Given the description of an element on the screen output the (x, y) to click on. 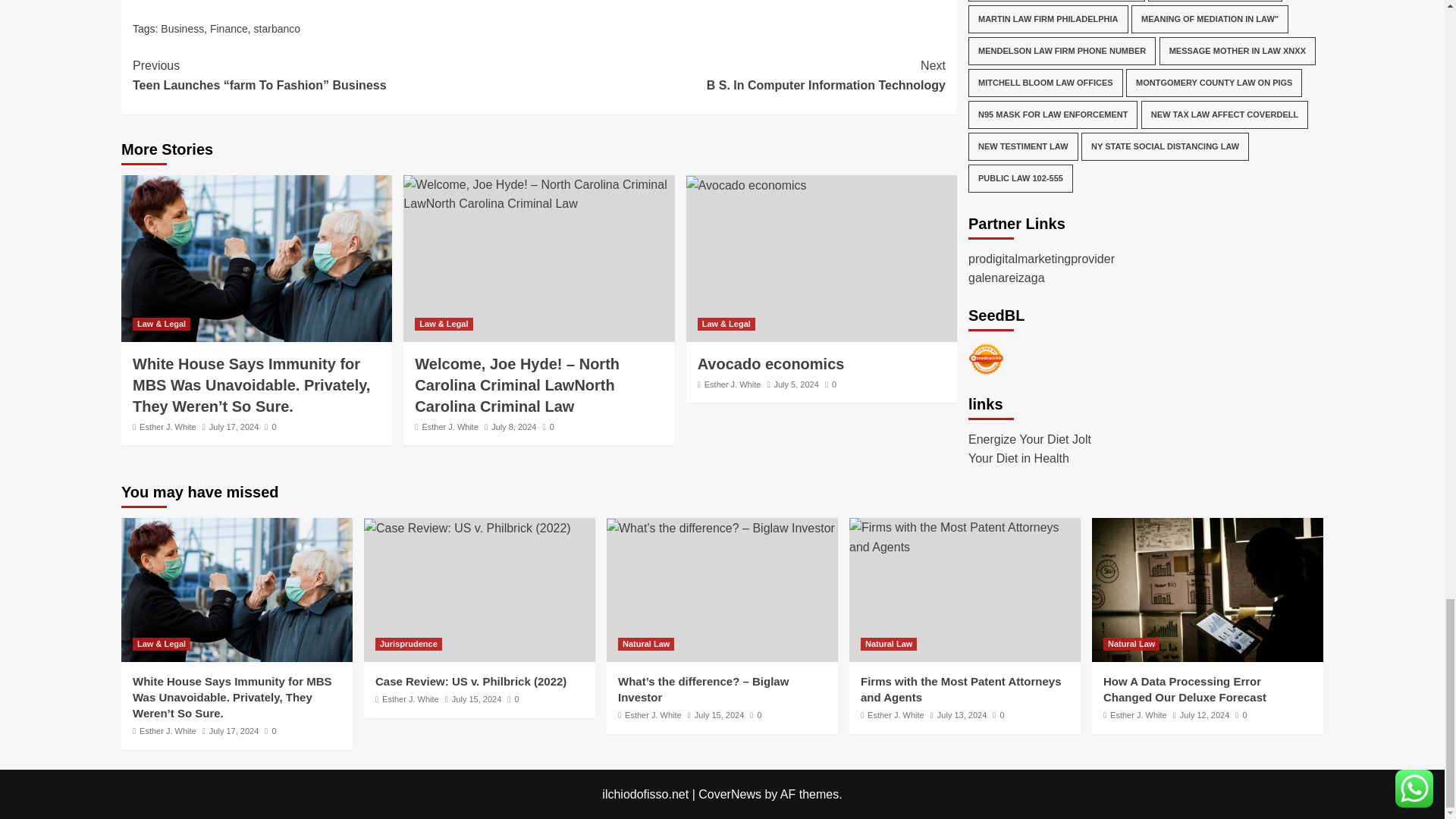
Avocado economics (745, 185)
Business (181, 28)
starbanco (276, 28)
Finance (741, 75)
